Given the description of an element on the screen output the (x, y) to click on. 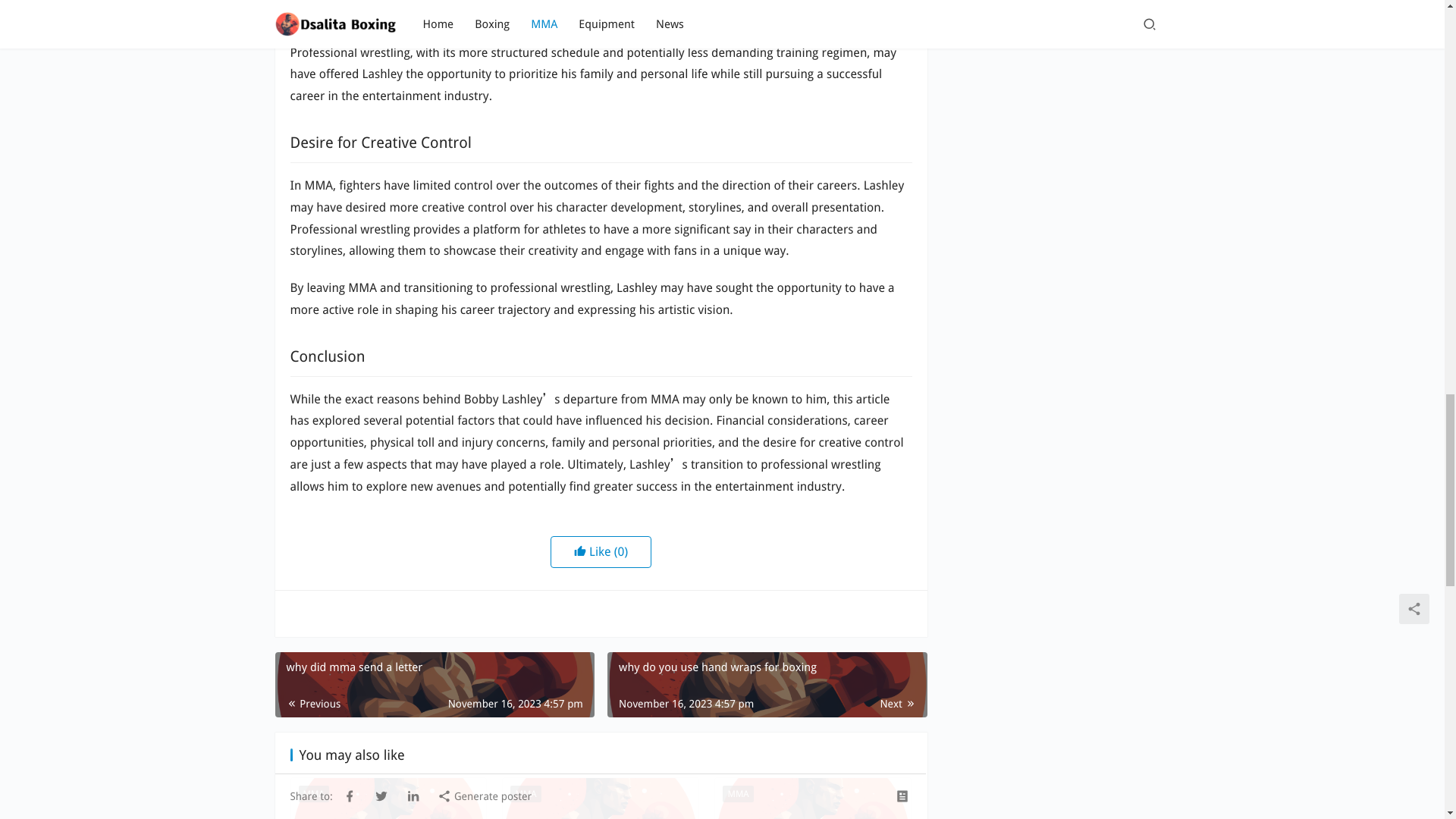
why do you use hand wraps for boxing (766, 684)
why did mma send a letter (434, 684)
will jake paul fight nate diaz mma (600, 798)
MMA (313, 793)
why are there less submission holds in mma (388, 798)
MMA (525, 793)
why do you use hand wraps for boxing (766, 684)
why did mma send a letter (434, 684)
will mma make me a better fighter (812, 798)
MMA (737, 793)
